Given the description of an element on the screen output the (x, y) to click on. 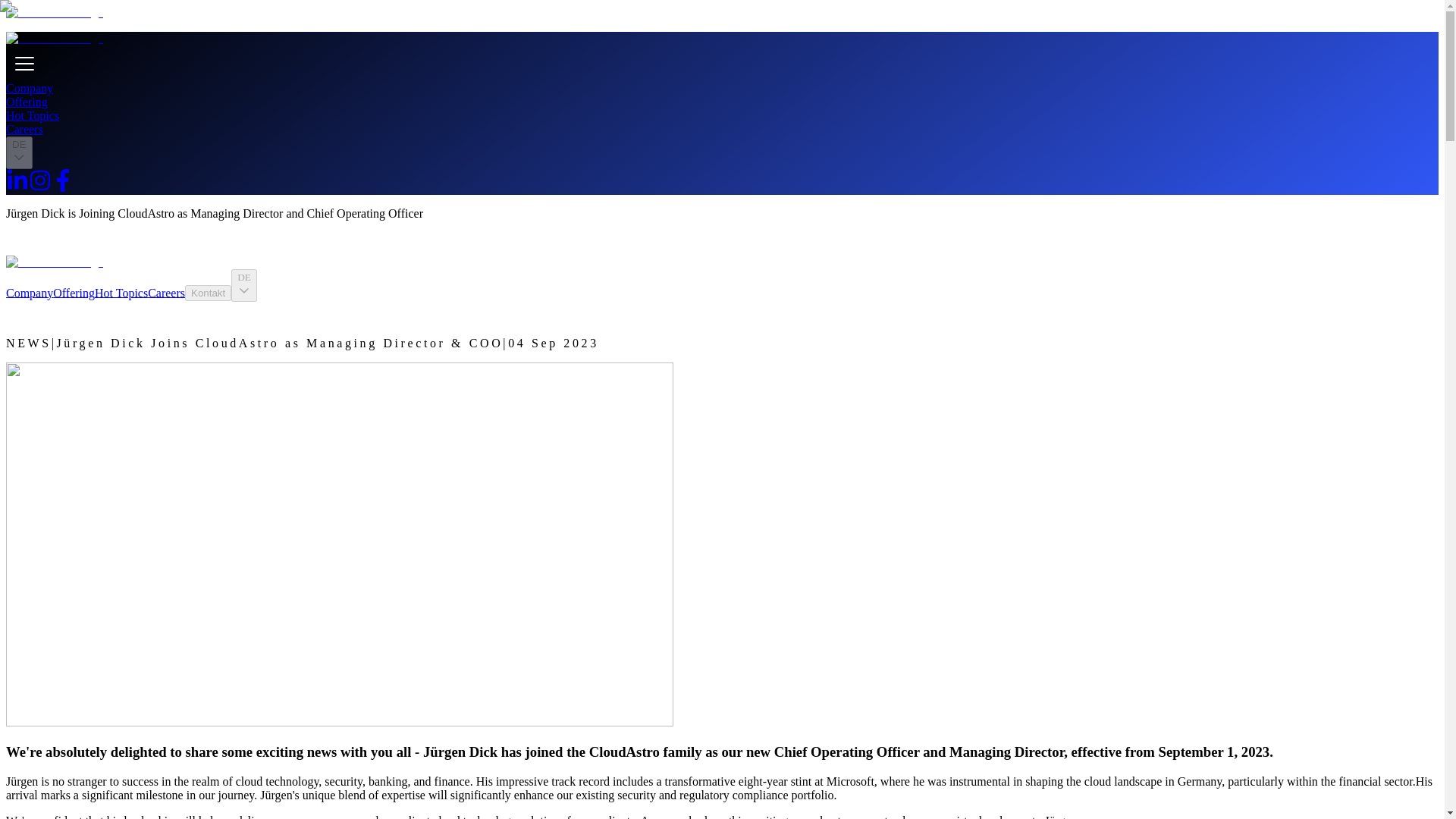
Offering (73, 291)
Kontakt (207, 293)
Kontakt (207, 291)
Careers (166, 291)
Company (28, 291)
Hot Topics (121, 291)
